Given the description of an element on the screen output the (x, y) to click on. 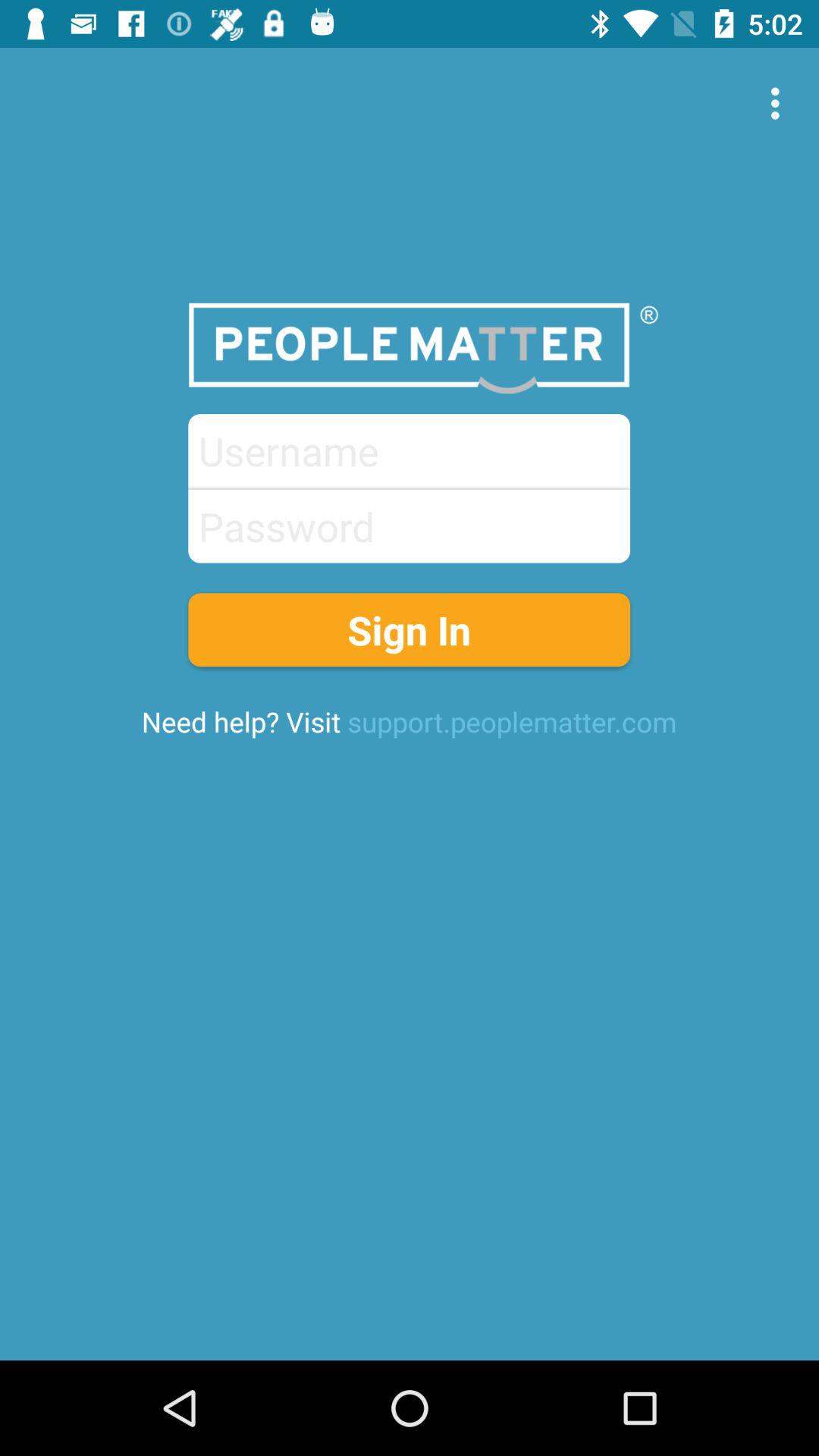
click the need help visit icon (408, 721)
